Given the description of an element on the screen output the (x, y) to click on. 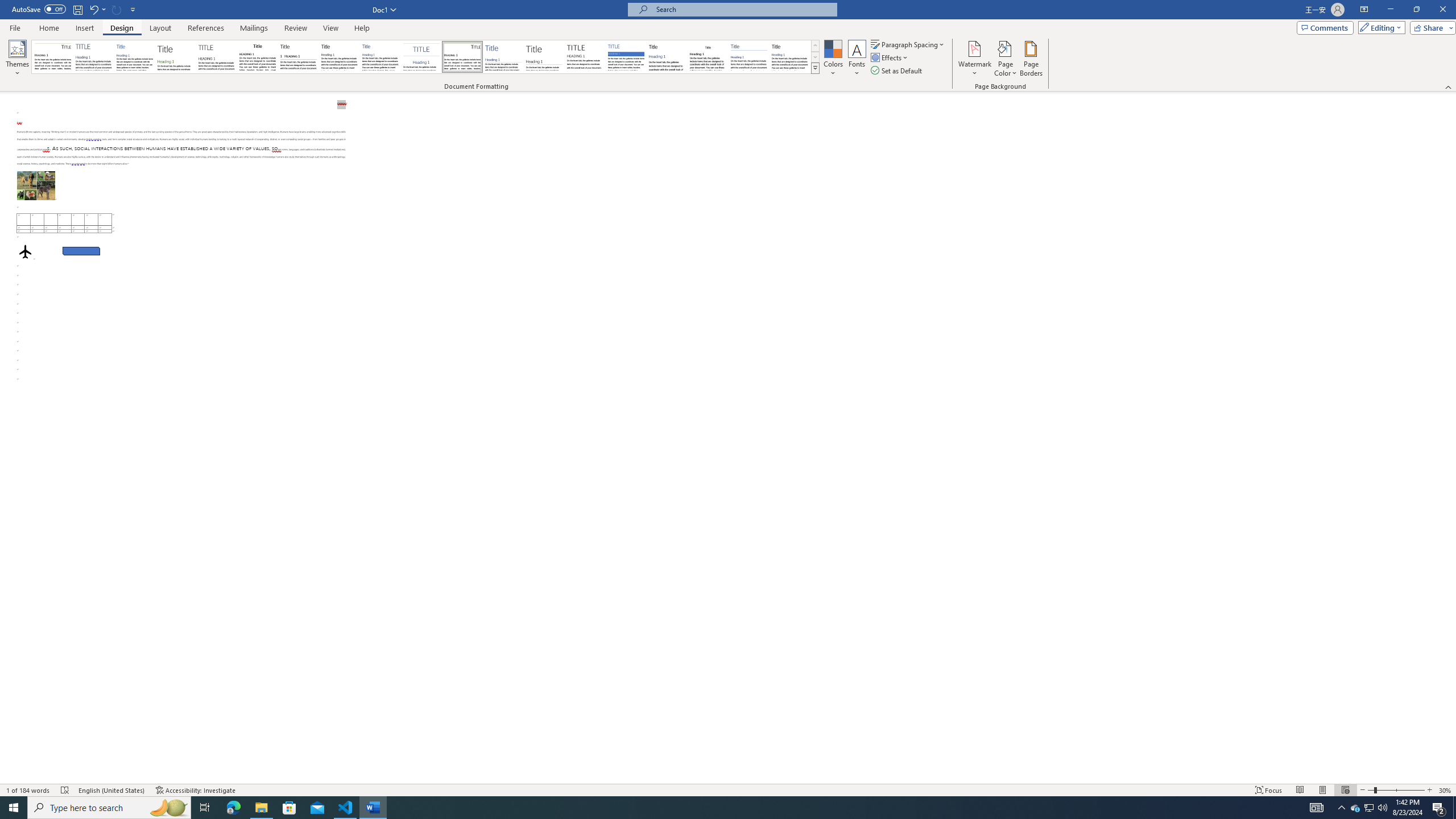
Paragraph Spacing (908, 44)
Casual (379, 56)
Word (666, 56)
Page Color (1005, 58)
